Given the description of an element on the screen output the (x, y) to click on. 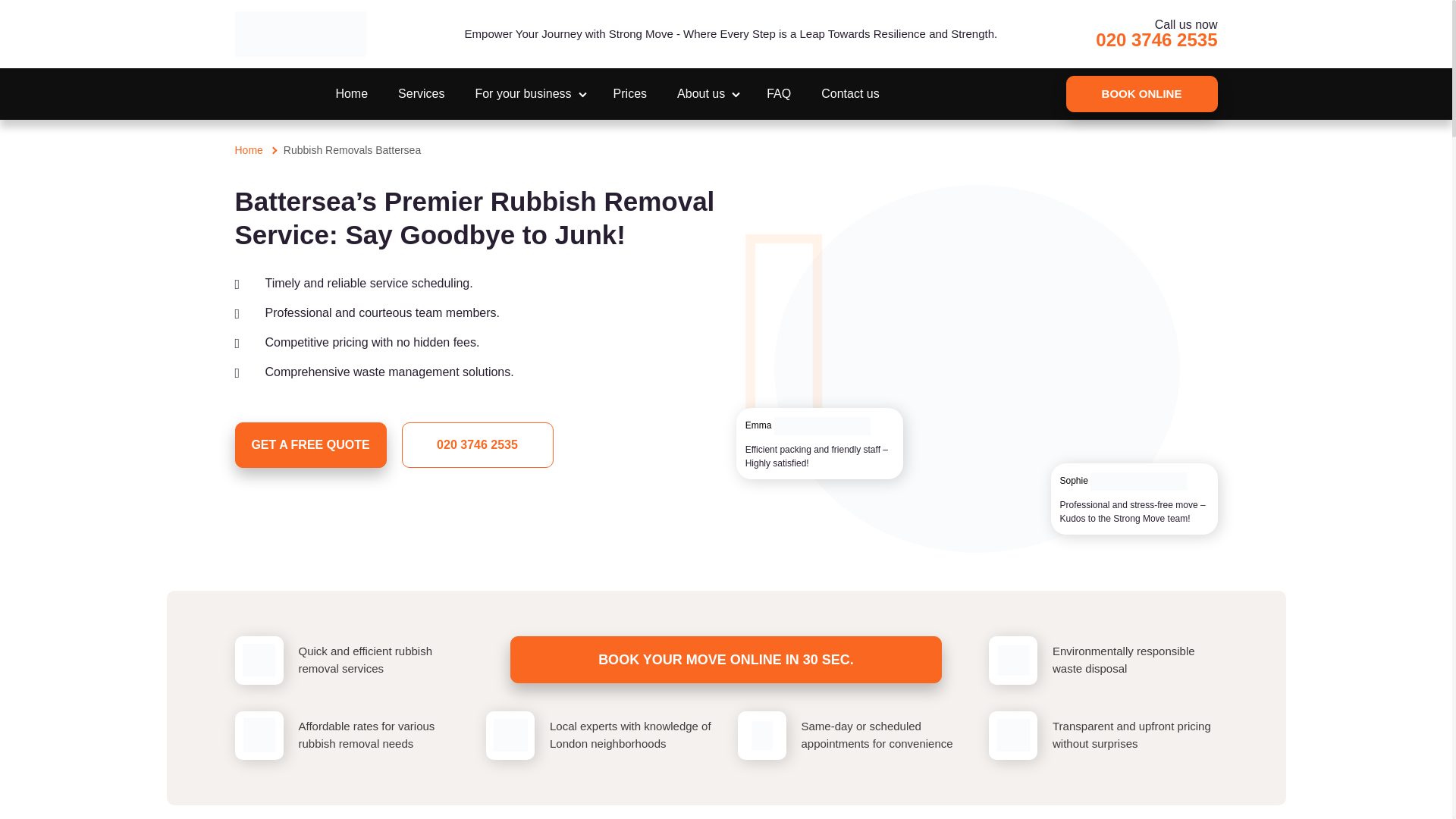
020 3746 2535 (1156, 39)
Call Strong move on 020 3746 2535 (1156, 39)
Contact us (850, 93)
Home (248, 150)
020 3746 2535 (477, 443)
For your business (528, 93)
GET A FREE QUOTE (310, 443)
Rubbish Removals Battersea (351, 150)
About us (706, 93)
Strong move (300, 33)
Services (420, 93)
BOOK ONLINE (1141, 94)
